Given the description of an element on the screen output the (x, y) to click on. 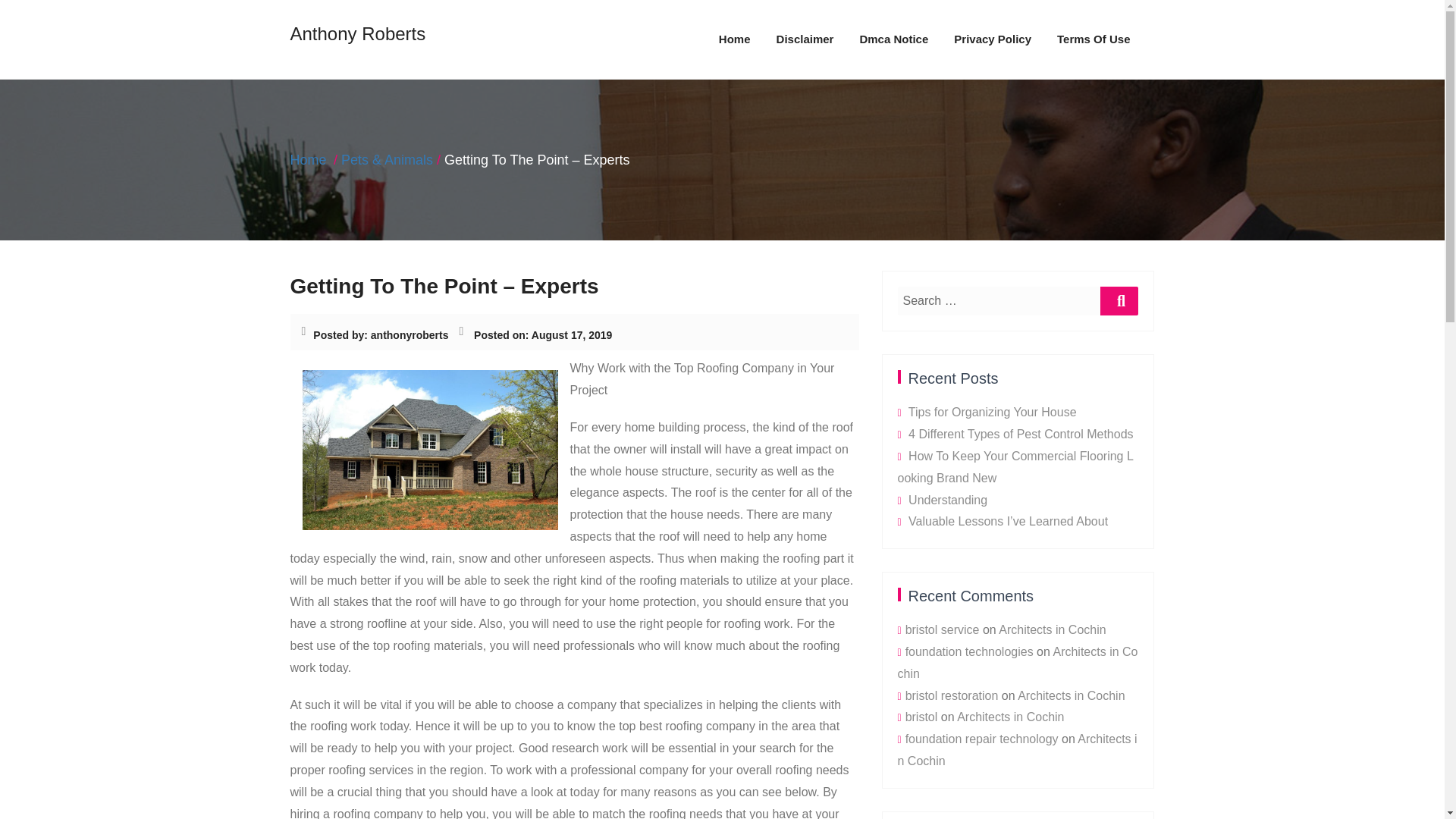
foundation technologies (969, 651)
Anthony Roberts (357, 35)
Home (734, 39)
Architects in Cochin (1070, 695)
4 Different Types of Pest Control Methods (1020, 433)
Architects in Cochin (1051, 629)
bristol service (942, 629)
bristol (921, 716)
Posted on: August 17, 2019 (542, 334)
Privacy Policy (992, 39)
Architects in Cochin (1017, 749)
Architects in Cochin (1010, 716)
Posted by: anthonyroberts (380, 334)
Home (734, 39)
foundation repair technology (981, 738)
